Given the description of an element on the screen output the (x, y) to click on. 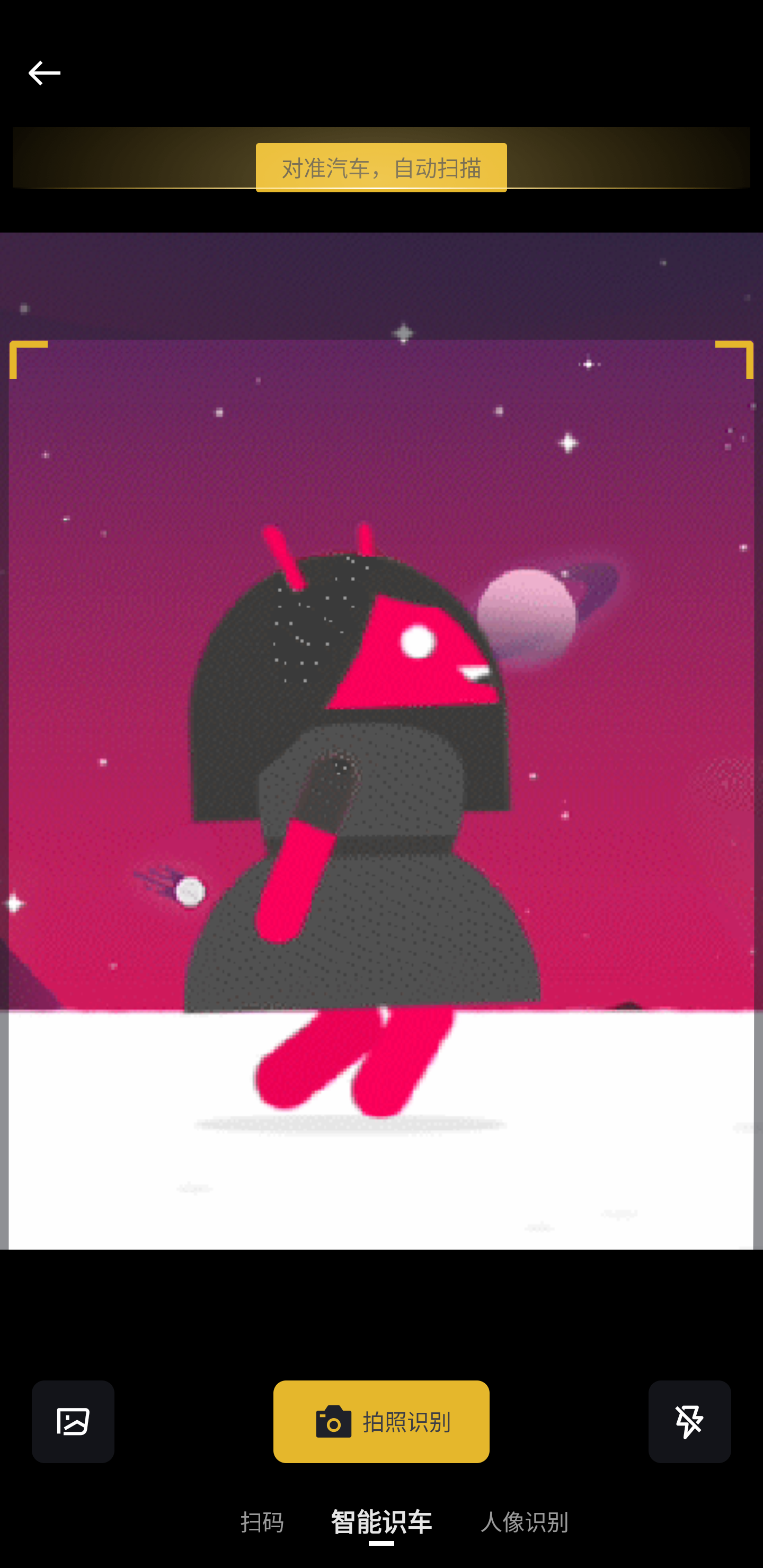
 (44, 72)
 (73, 1420)
拍照识别 (381, 1420)
 (689, 1420)
